Given the description of an element on the screen output the (x, y) to click on. 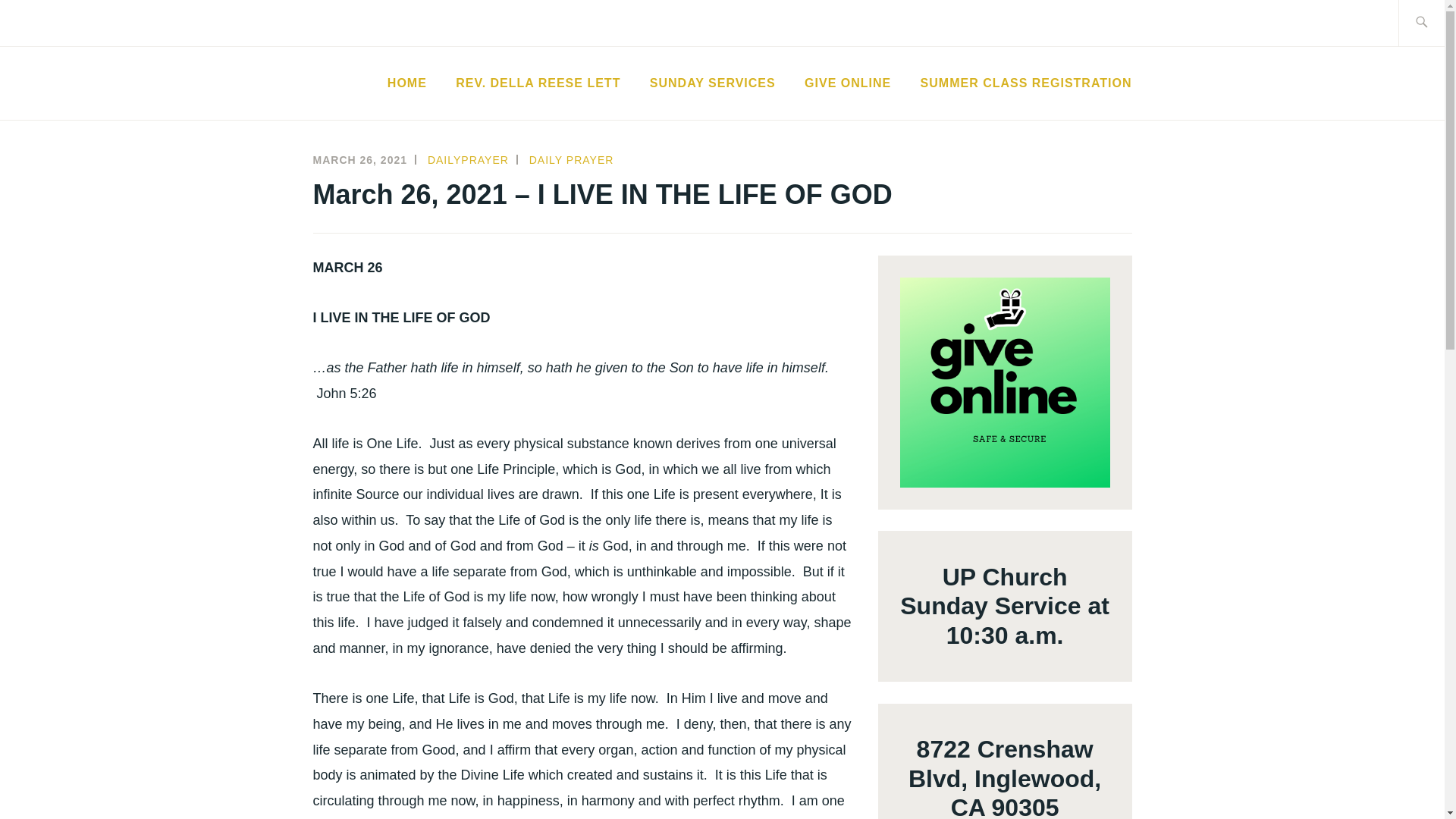
REV. DELLA REESE LETT (537, 83)
MARCH 26, 2021 (360, 159)
DAILYPRAYER (468, 159)
UP CHURCH (421, 108)
HOME (406, 83)
Search (47, 22)
SUMMER CLASS REGISTRATION (1026, 83)
GIVE ONLINE (848, 83)
SUNDAY SERVICES (712, 83)
DAILY PRAYER (571, 159)
